Given the description of an element on the screen output the (x, y) to click on. 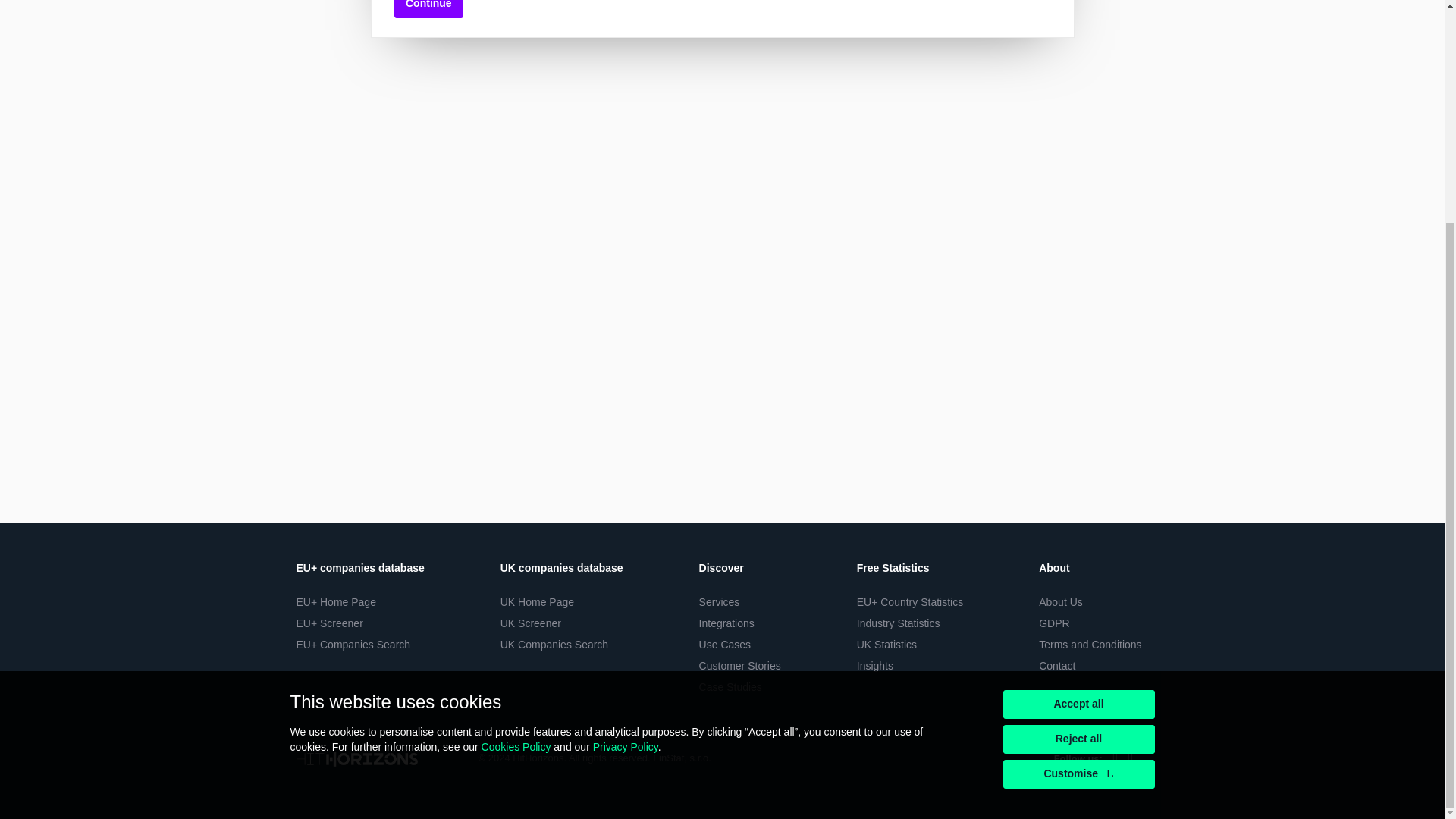
Continue (428, 9)
Customer Stories (739, 665)
Use Cases (724, 644)
UK Statistics (887, 644)
UK Companies Search (554, 644)
UK Home Page (536, 602)
Integrations (726, 623)
Industry Statistics (898, 623)
Privacy Policy (625, 451)
Accept all (1078, 408)
Reject all (1078, 443)
Services (718, 602)
Continue (428, 9)
UK Screener (530, 623)
Case Studies (729, 686)
